Given the description of an element on the screen output the (x, y) to click on. 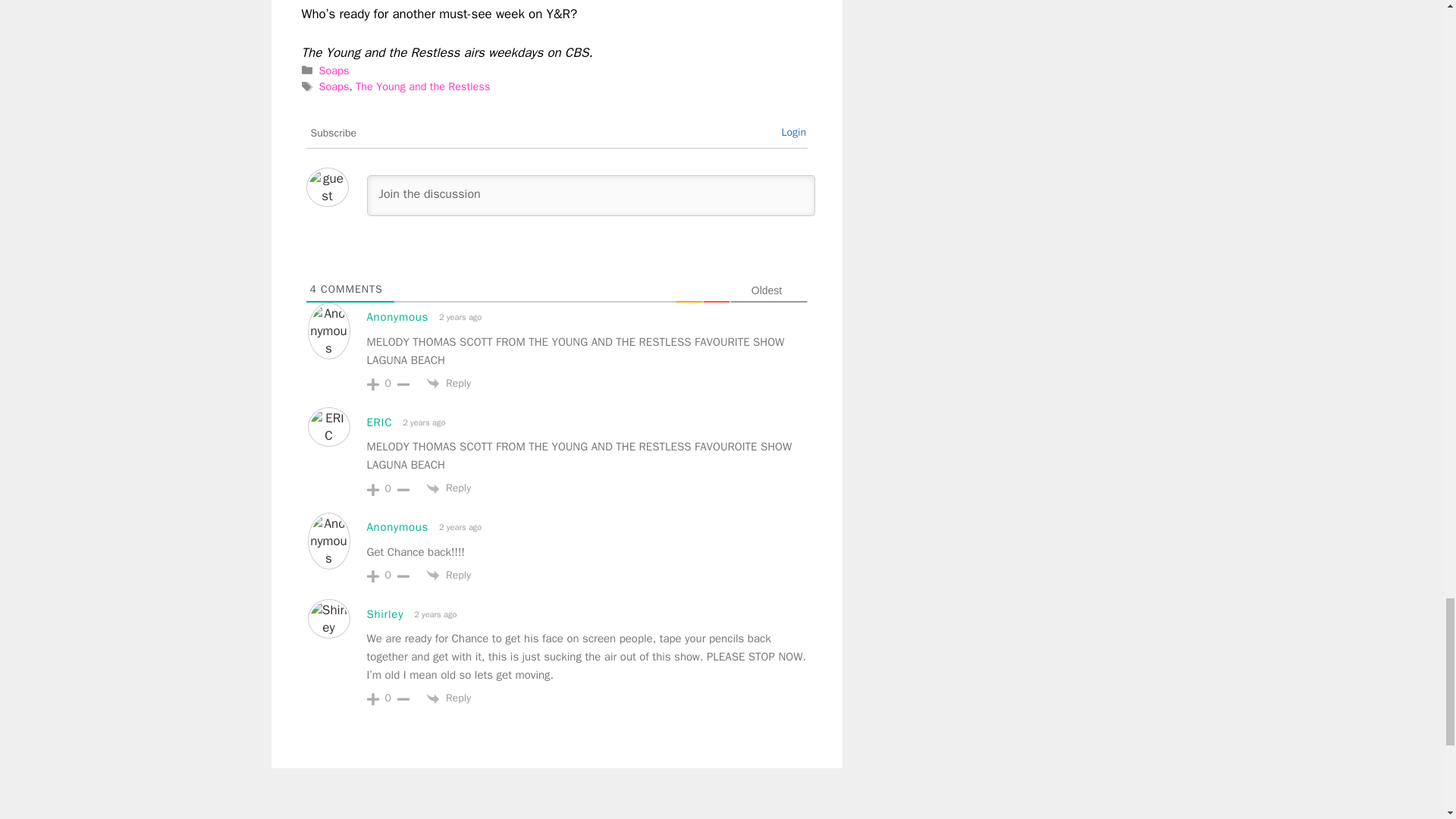
6th September 2021 10:24 am EDT (458, 527)
7th September 2021 3:12 pm EDT (433, 614)
0 (387, 489)
The Young and the Restless (422, 86)
0 (387, 383)
Login (793, 132)
0 (387, 575)
Soaps (333, 69)
3rd September 2021 9:45 pm EDT (422, 422)
3rd September 2021 2:53 pm EDT (458, 317)
